Given the description of an element on the screen output the (x, y) to click on. 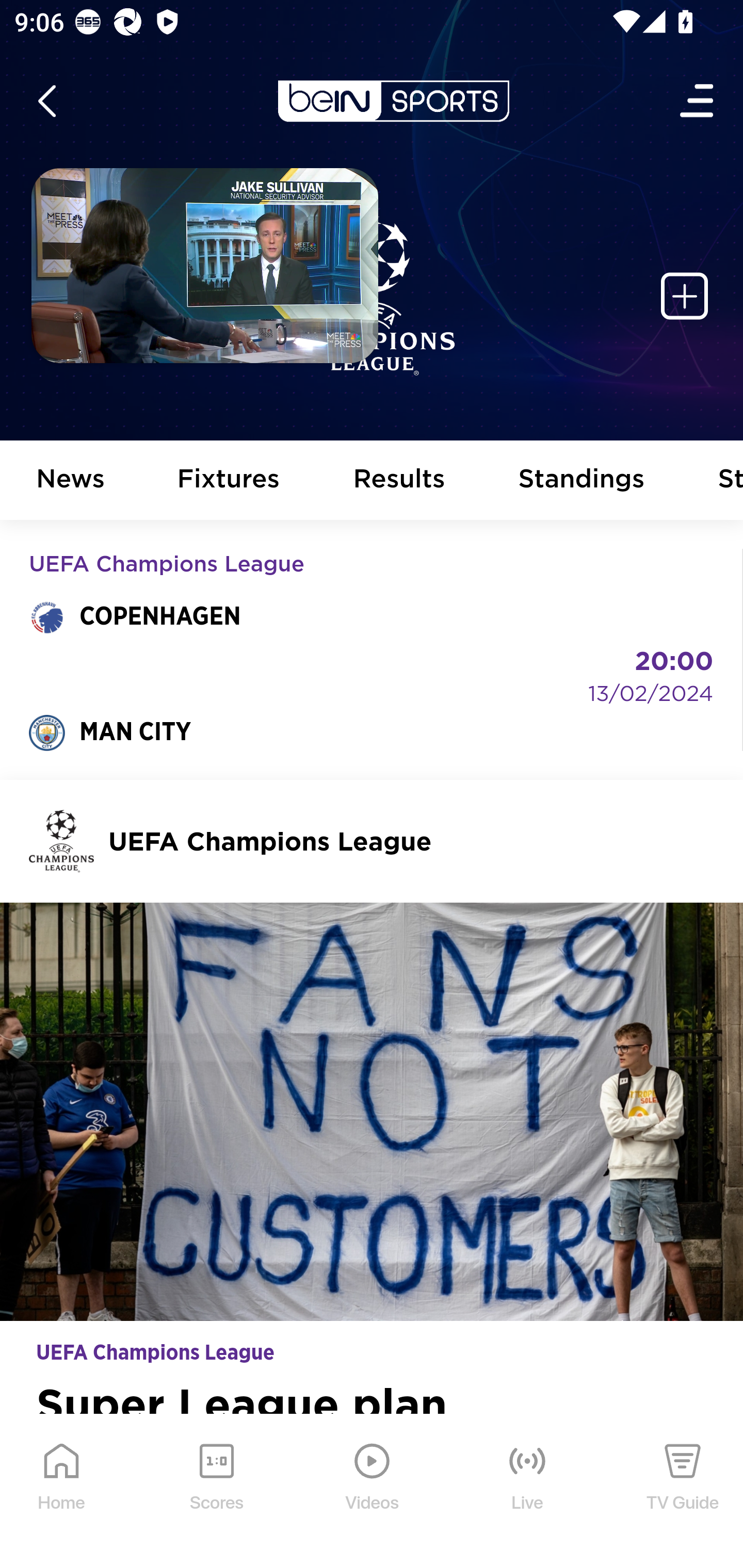
en-my?platform=mobile_android bein logo white (392, 101)
icon back (46, 101)
Open Menu Icon (697, 101)
News (70, 480)
Fixtures (229, 480)
Results (399, 480)
Standings (581, 480)
Home Home Icon Home (61, 1491)
Scores Scores Icon Scores (216, 1491)
Videos Videos Icon Videos (372, 1491)
TV Guide TV Guide Icon TV Guide (682, 1491)
